Given the description of an element on the screen output the (x, y) to click on. 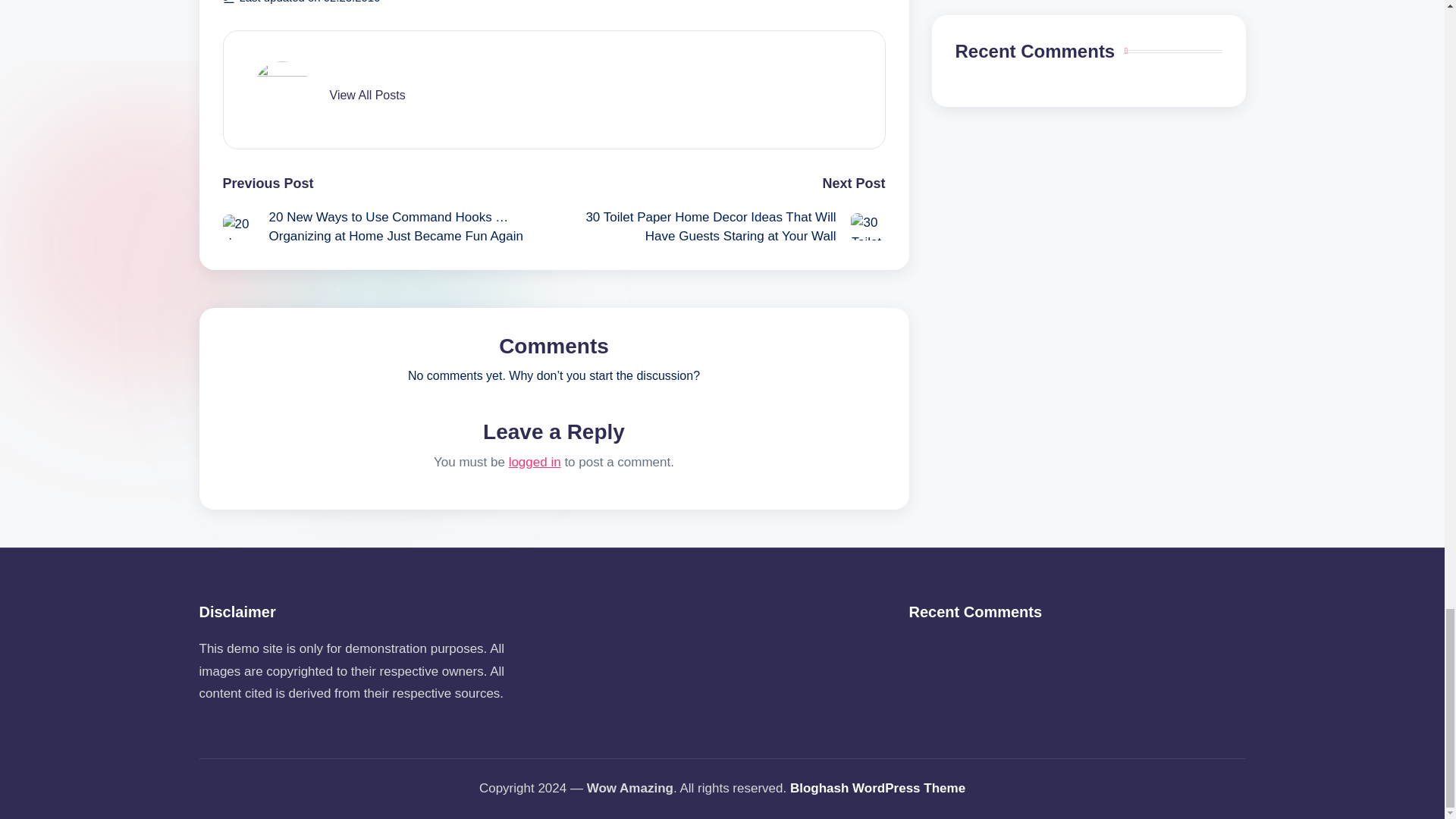
logged in (534, 462)
View All Posts (366, 95)
Bloghash WordPress Theme (877, 788)
